Given the description of an element on the screen output the (x, y) to click on. 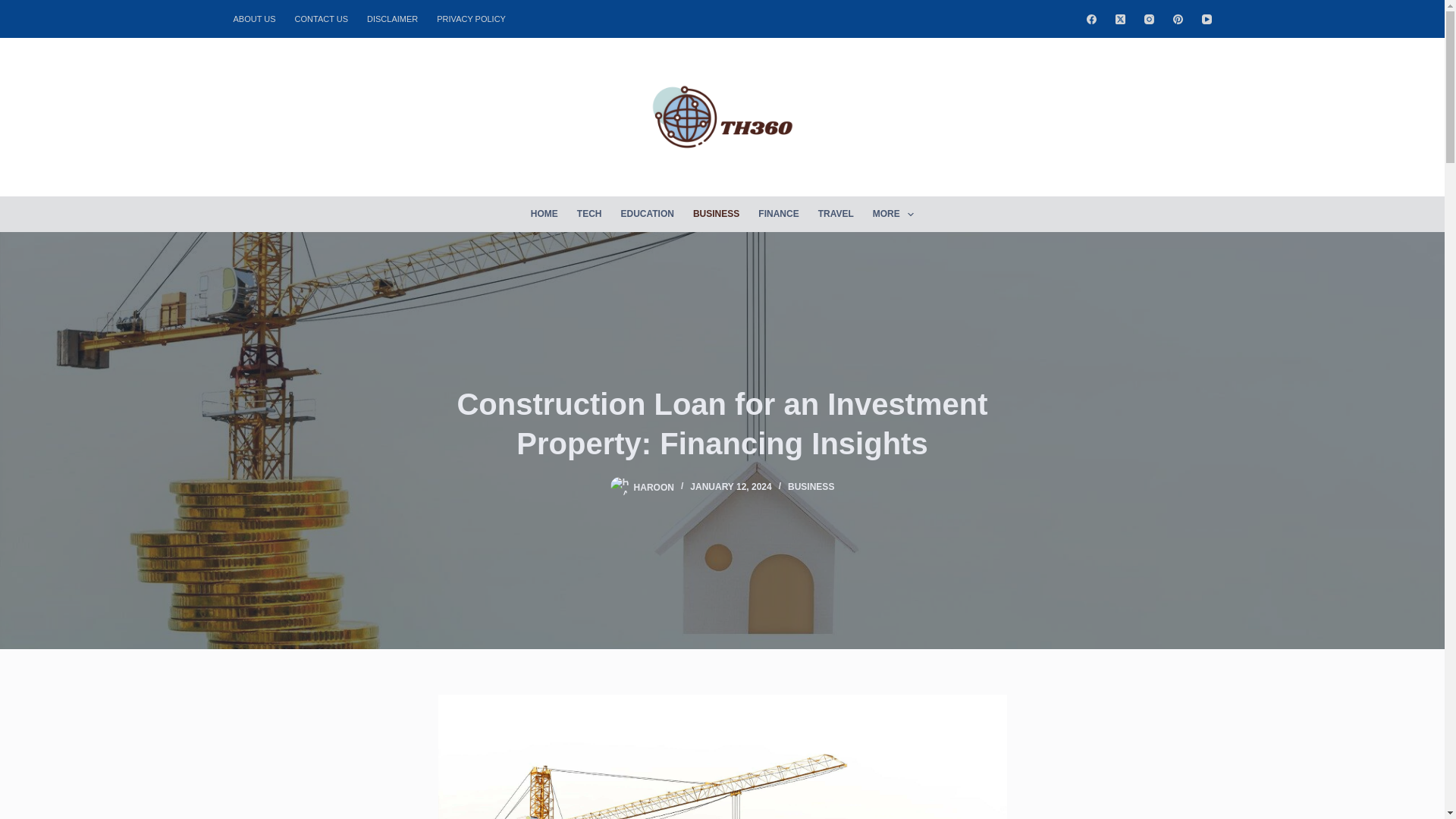
EDUCATION (646, 213)
FINANCE (778, 213)
MORE (893, 213)
DISCLAIMER (393, 18)
ABOUT US (258, 18)
TECH (589, 213)
Skip to content (15, 7)
TRAVEL (835, 213)
BUSINESS (715, 213)
Posts by Haroon (653, 486)
PRIVACY POLICY (471, 18)
HOME (544, 213)
CONTACT US (321, 18)
